Given the description of an element on the screen output the (x, y) to click on. 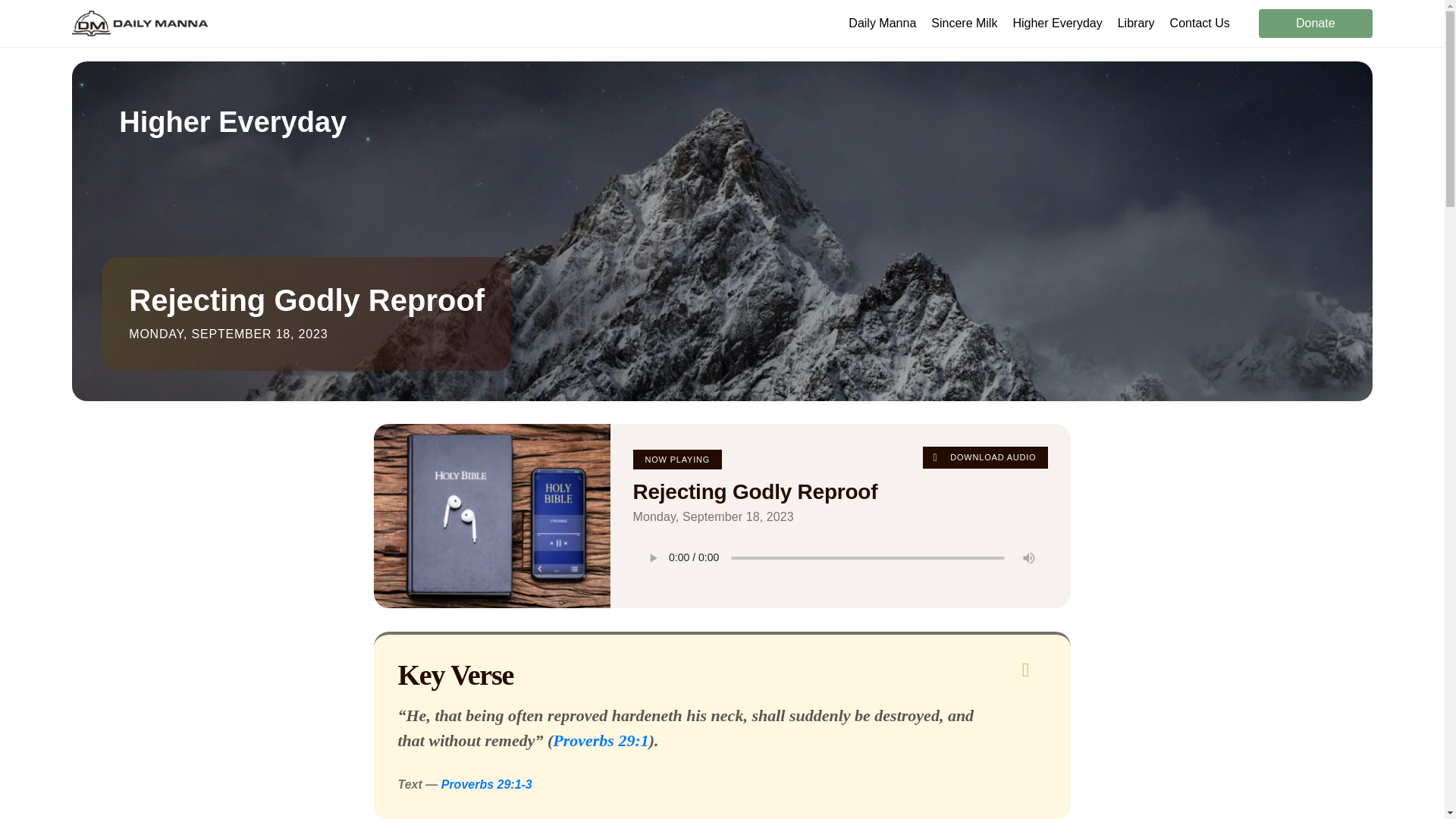
Proverbs 29:1-3 (486, 784)
Donate (1316, 23)
Contact Us (1200, 23)
Sincere Milk (964, 23)
Proverbs 29:1 (600, 740)
DOWNLOAD AUDIO (985, 457)
Higher Everyday (1056, 23)
Daily Manna (881, 23)
